Given the description of an element on the screen output the (x, y) to click on. 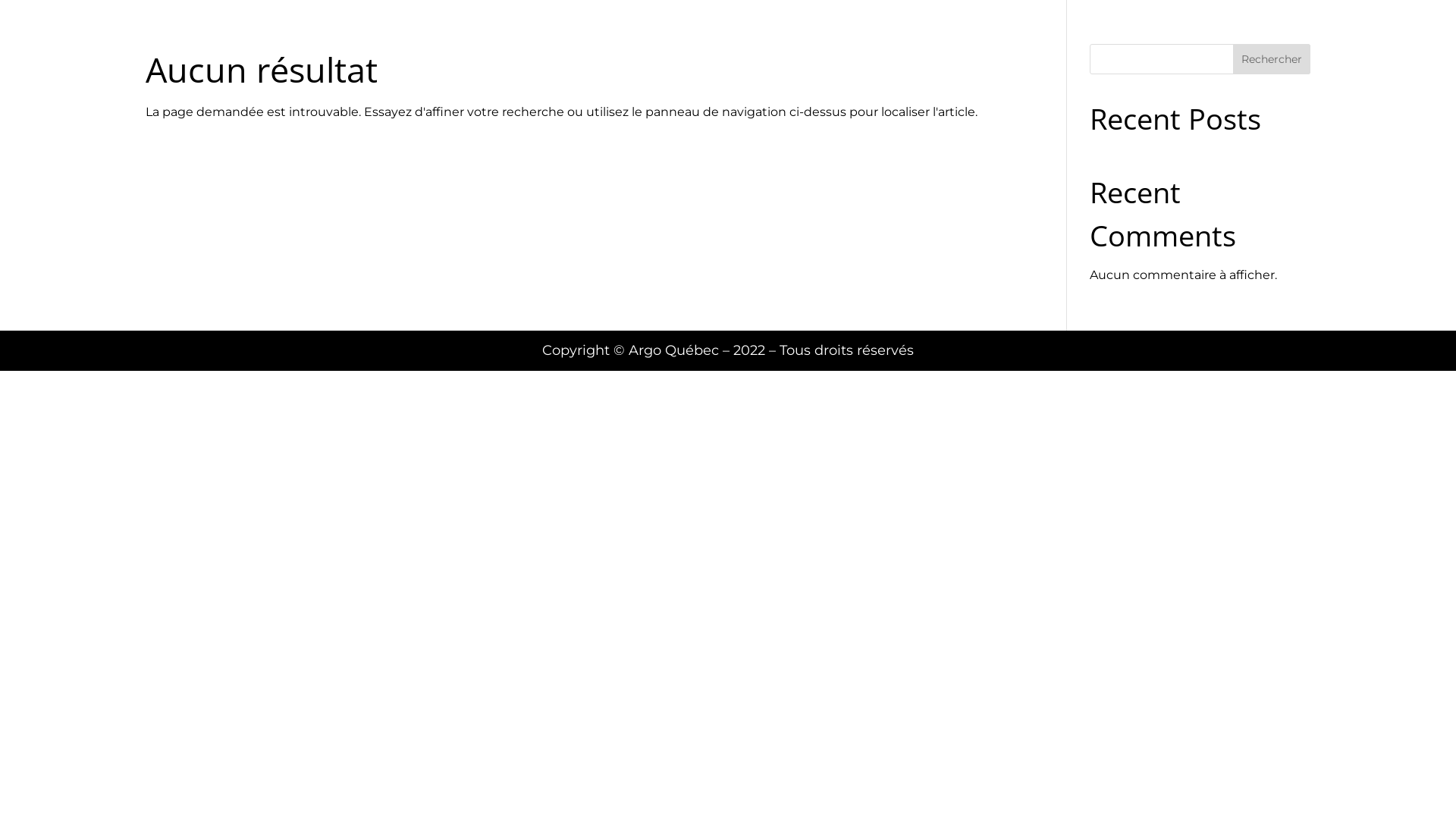
Rechercher Element type: text (1271, 58)
